Given the description of an element on the screen output the (x, y) to click on. 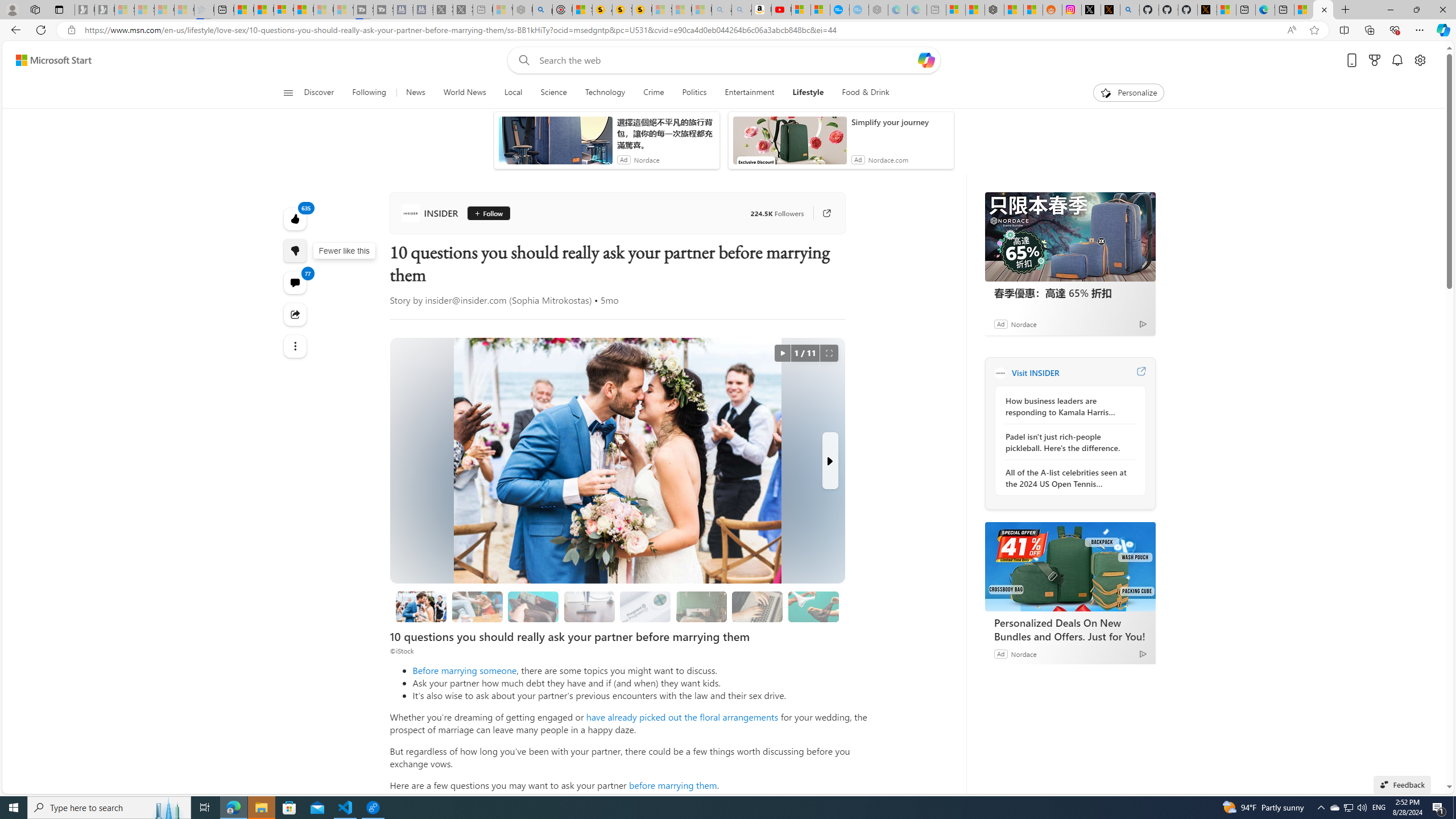
Welcome to Microsoft Edge (1264, 9)
amazon - Search - Sleeping (721, 9)
Microsoft Start (53, 60)
Lifestyle (808, 92)
Nordace - Summer Adventures 2024 - Sleeping (522, 9)
Close tab (1324, 9)
Skip to footer (46, 59)
X Privacy Policy (1206, 9)
Visit INSIDER website (1140, 372)
Web search (520, 60)
X - Sleeping (462, 9)
Open navigation menu (287, 92)
